Given the description of an element on the screen output the (x, y) to click on. 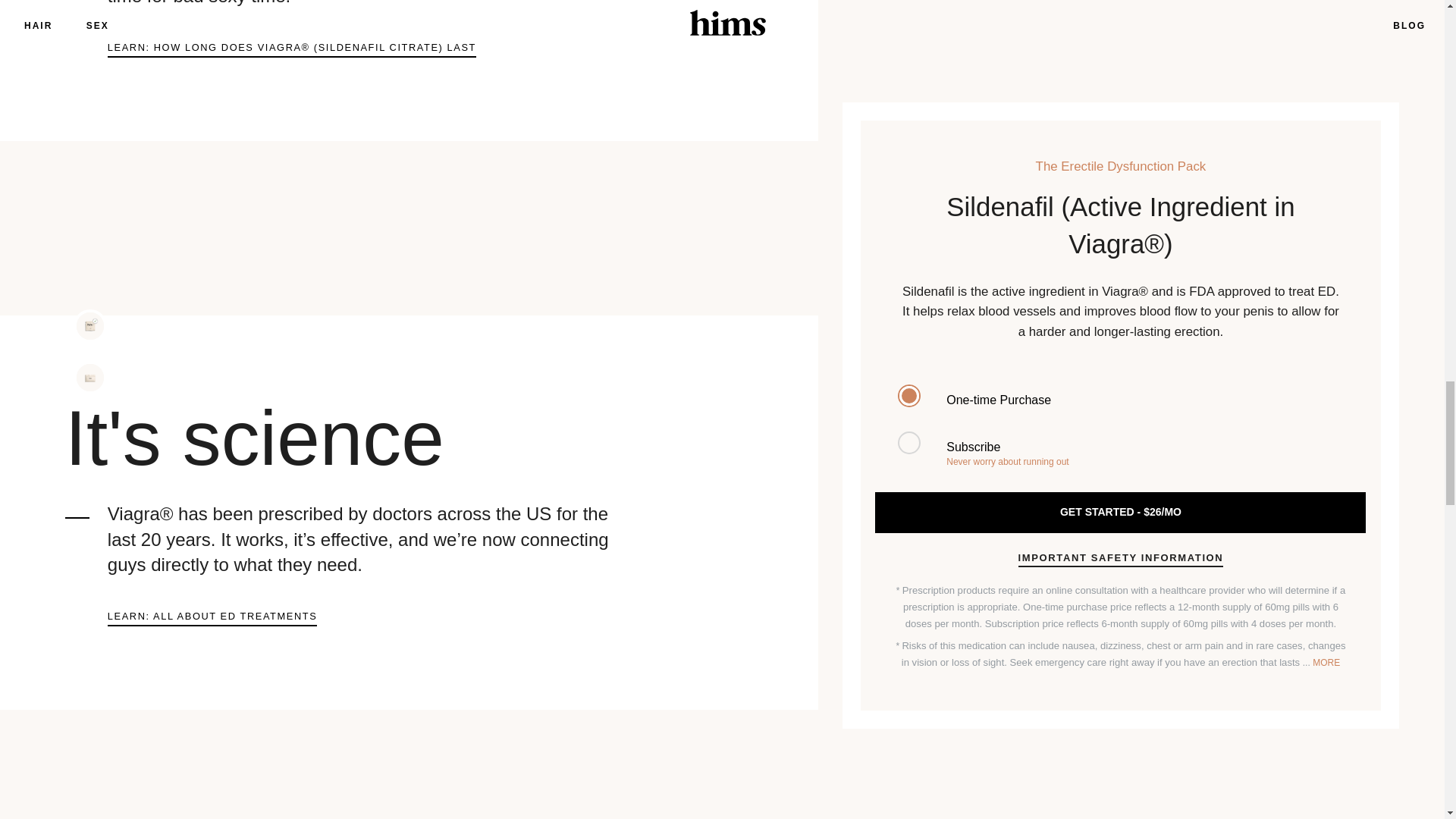
LEARN: ALL ABOUT ED TREATMENTS (212, 618)
